Given the description of an element on the screen output the (x, y) to click on. 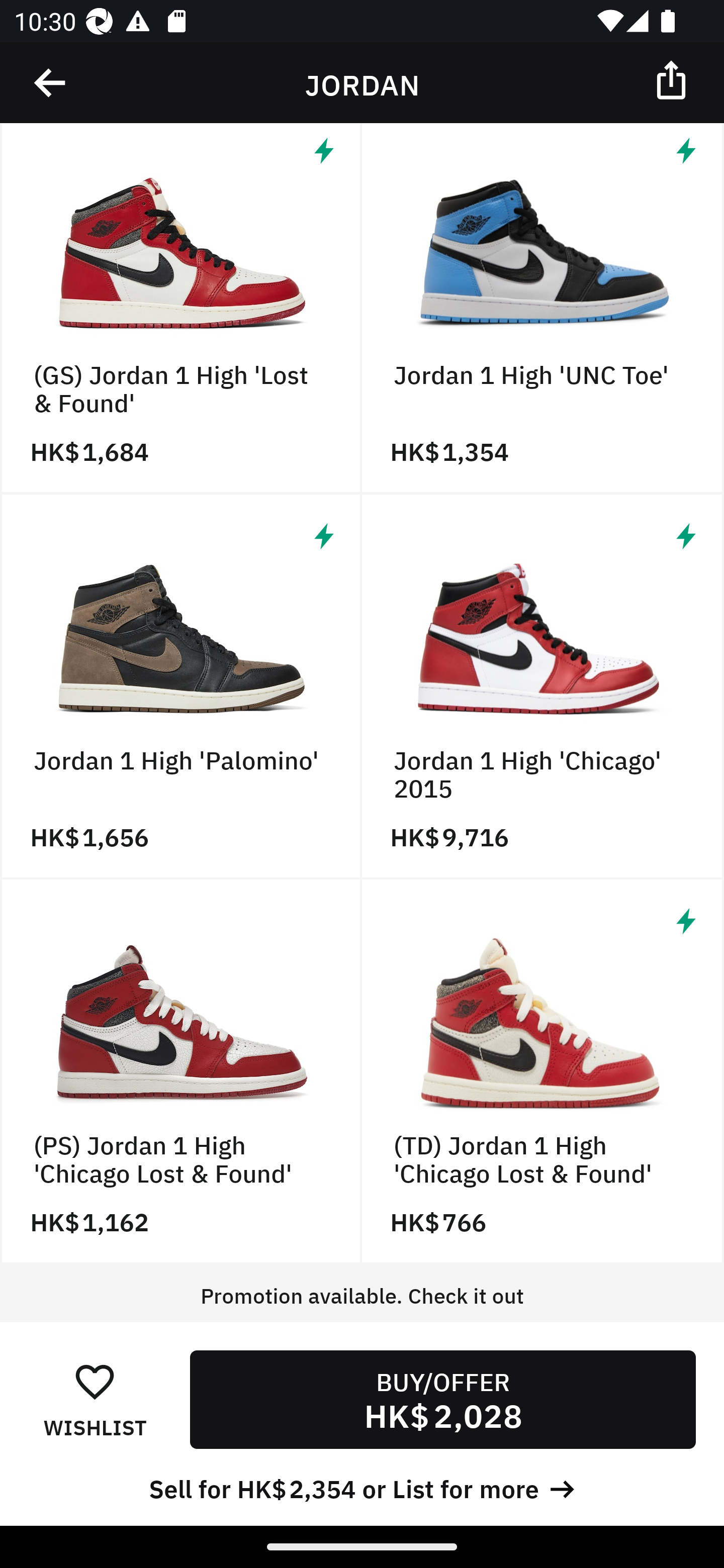
 (50, 83)
 (672, 79)
 (GS) Jordan 1 High 'Lost & Found' HK$ 1,684 (181, 308)
 Jordan 1 High 'UNC Toe' HK$ 1,354 (543, 308)
 Jordan 1 High 'Palomino' HK$ 1,656 (181, 686)
 Jordan 1 High 'Chicago' 2015 HK$ 9,716 (543, 686)
BUY/OFFER HK$ 2,028 (442, 1399)
󰋕 (94, 1380)
Sell for HK$ 2,354 or List for more (361, 1486)
